Given the description of an element on the screen output the (x, y) to click on. 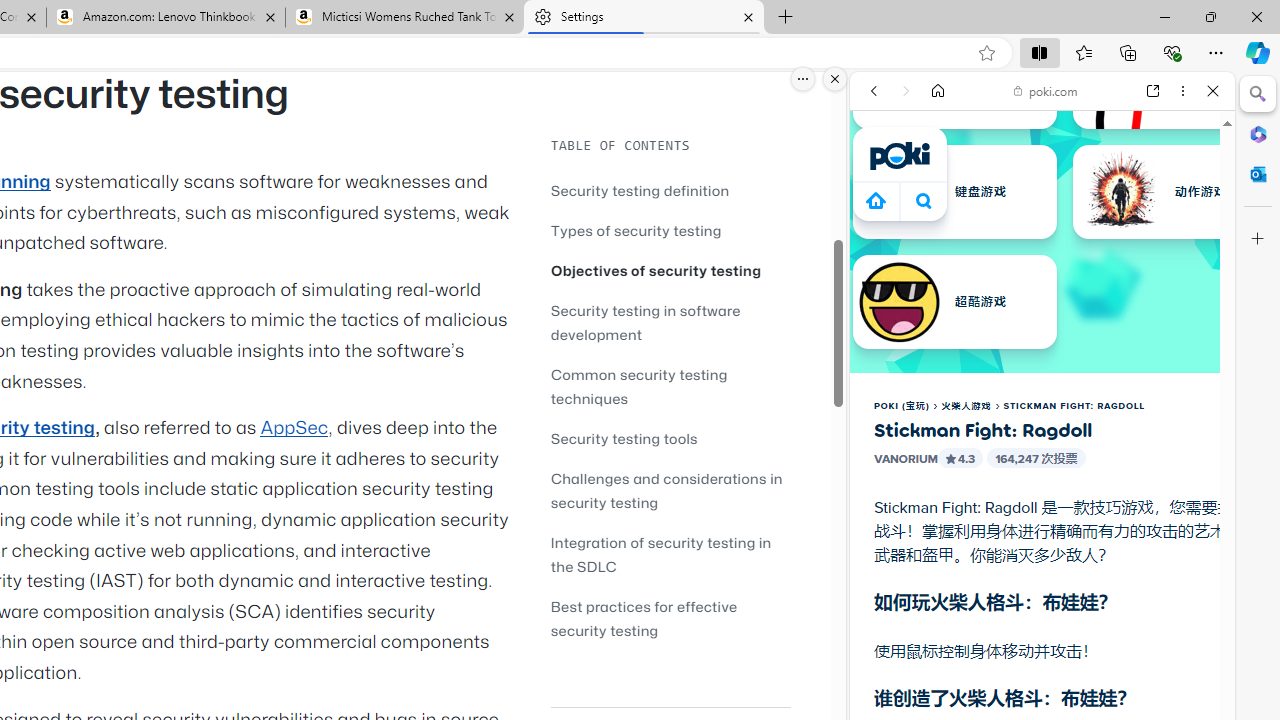
Challenges and considerations in security testing (670, 489)
Types of security testing (670, 230)
Shooting Games (1042, 519)
Shooting Games (1042, 518)
Sports Games (1042, 665)
Car Games (1042, 469)
Two Player Games (1042, 567)
Common security testing techniques (670, 386)
